Given the description of an element on the screen output the (x, y) to click on. 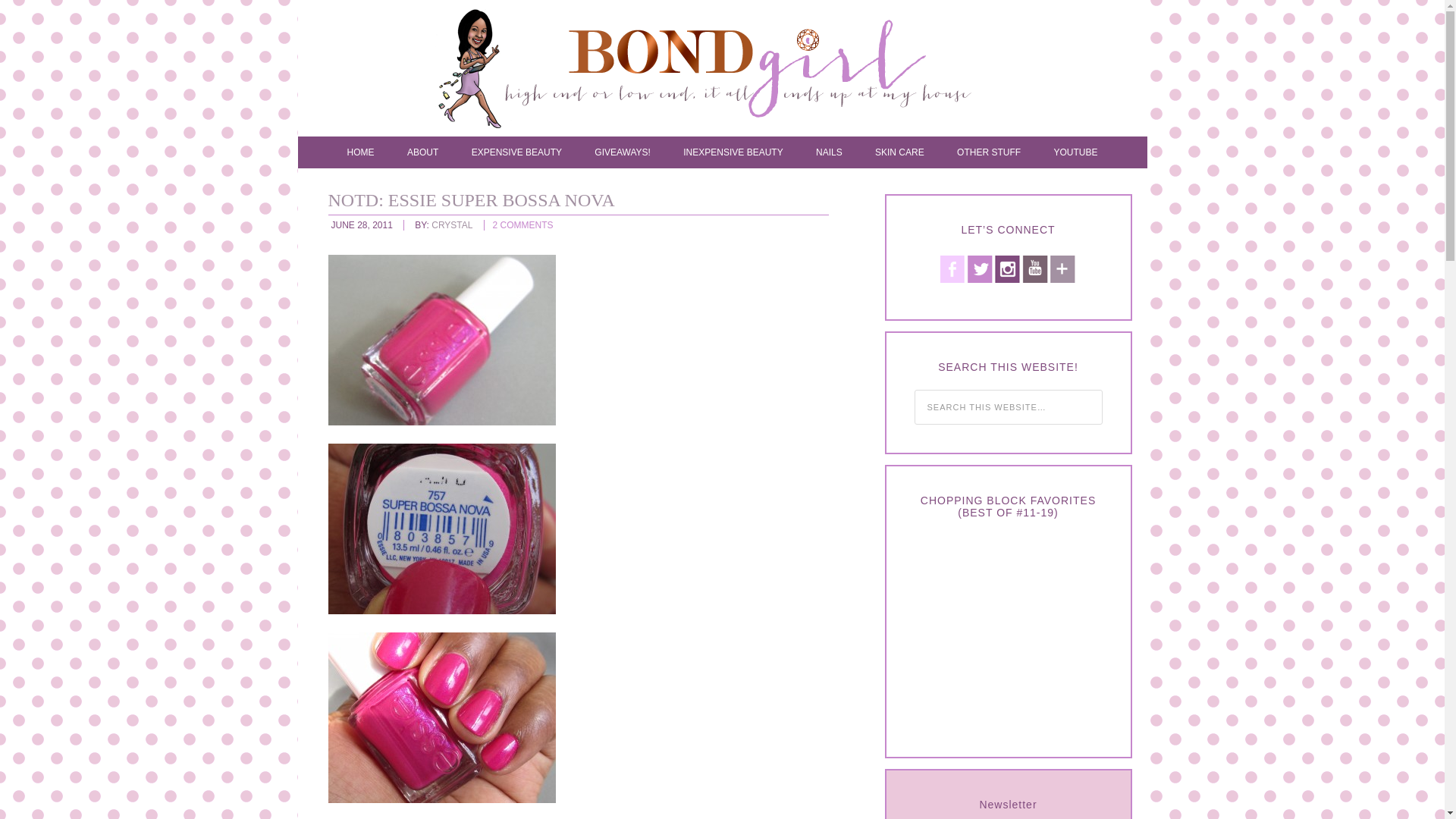
essie super bossa nova (440, 528)
essie super bossa nova on nails (440, 717)
EXPENSIVE BEAUTY (516, 152)
NAILS (828, 152)
SKIN CARE (899, 152)
OTHER STUFF (988, 152)
2 COMMENTS (523, 225)
YOUTUBE (1075, 152)
crystalis007 (737, 71)
